Given the description of an element on the screen output the (x, y) to click on. 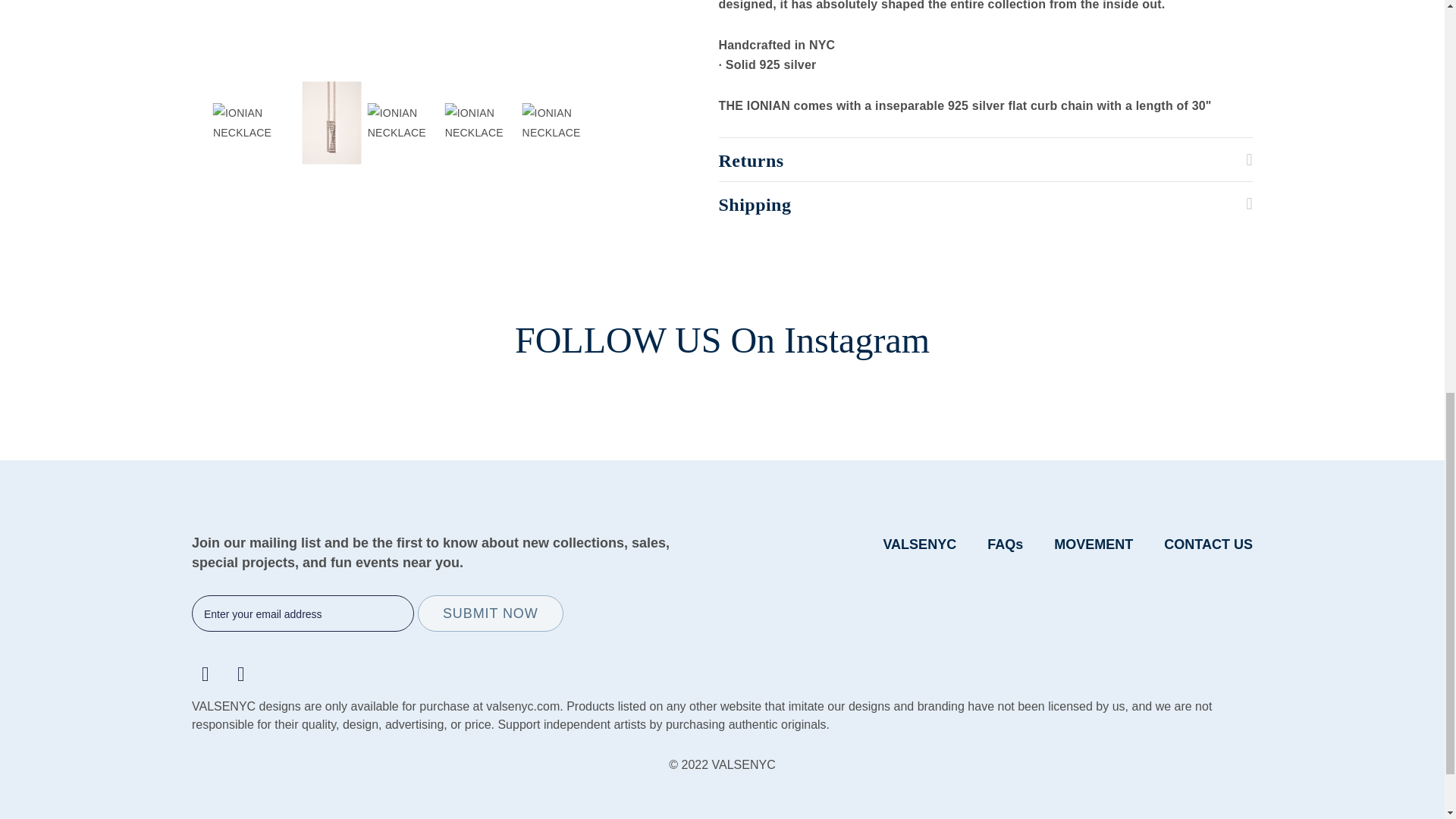
Submit now (490, 613)
FAQs (1005, 544)
Facebook (205, 672)
Instagram (240, 672)
VALSENYC (919, 544)
